Given the description of an element on the screen output the (x, y) to click on. 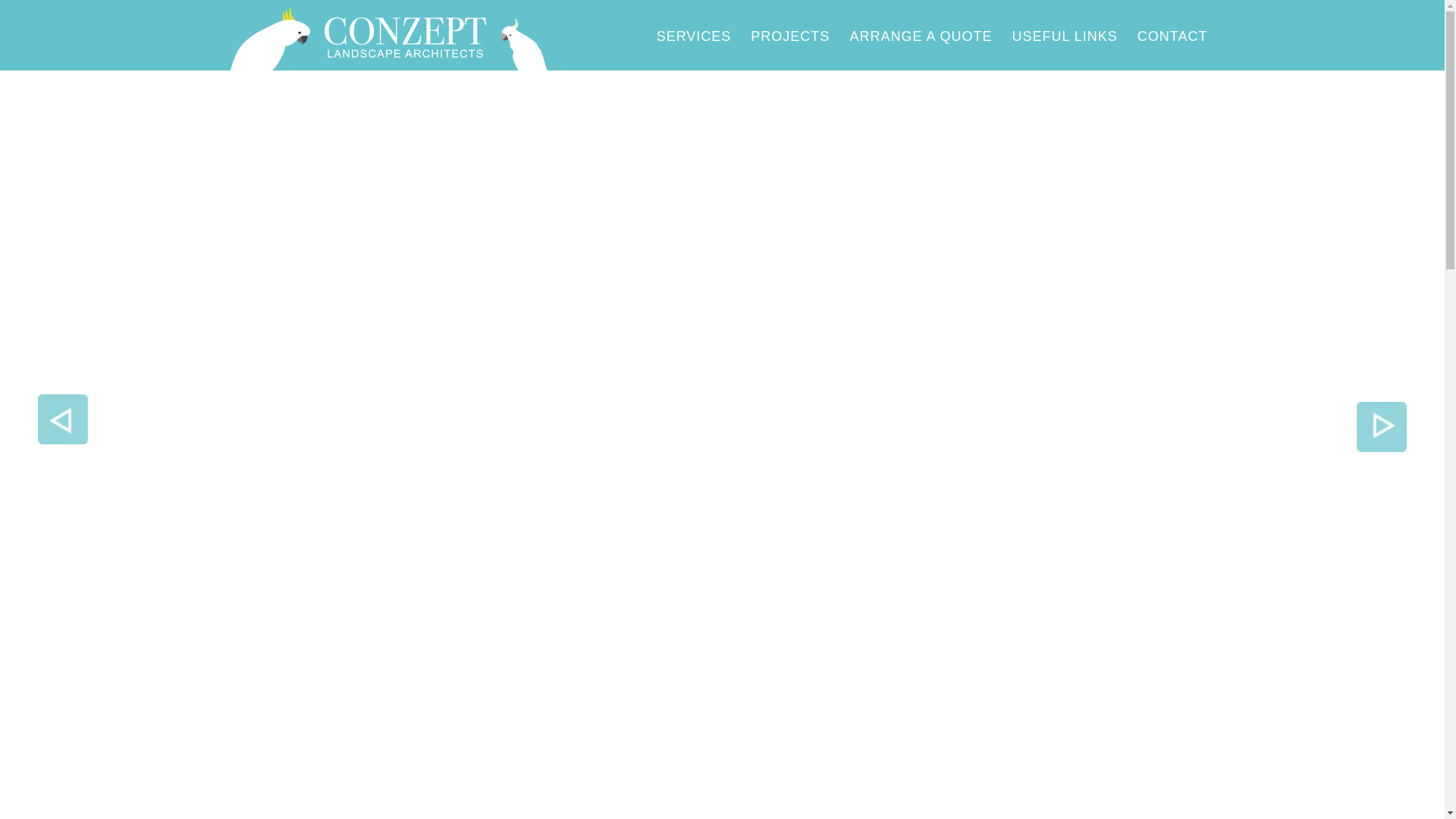
USEFUL LINKS Element type: text (1064, 36)
ARRANGE A QUOTE Element type: text (920, 36)
PROJECTS Element type: text (790, 36)
CONTACT Element type: text (1172, 36)
SERVICES Element type: text (694, 36)
